Given the description of an element on the screen output the (x, y) to click on. 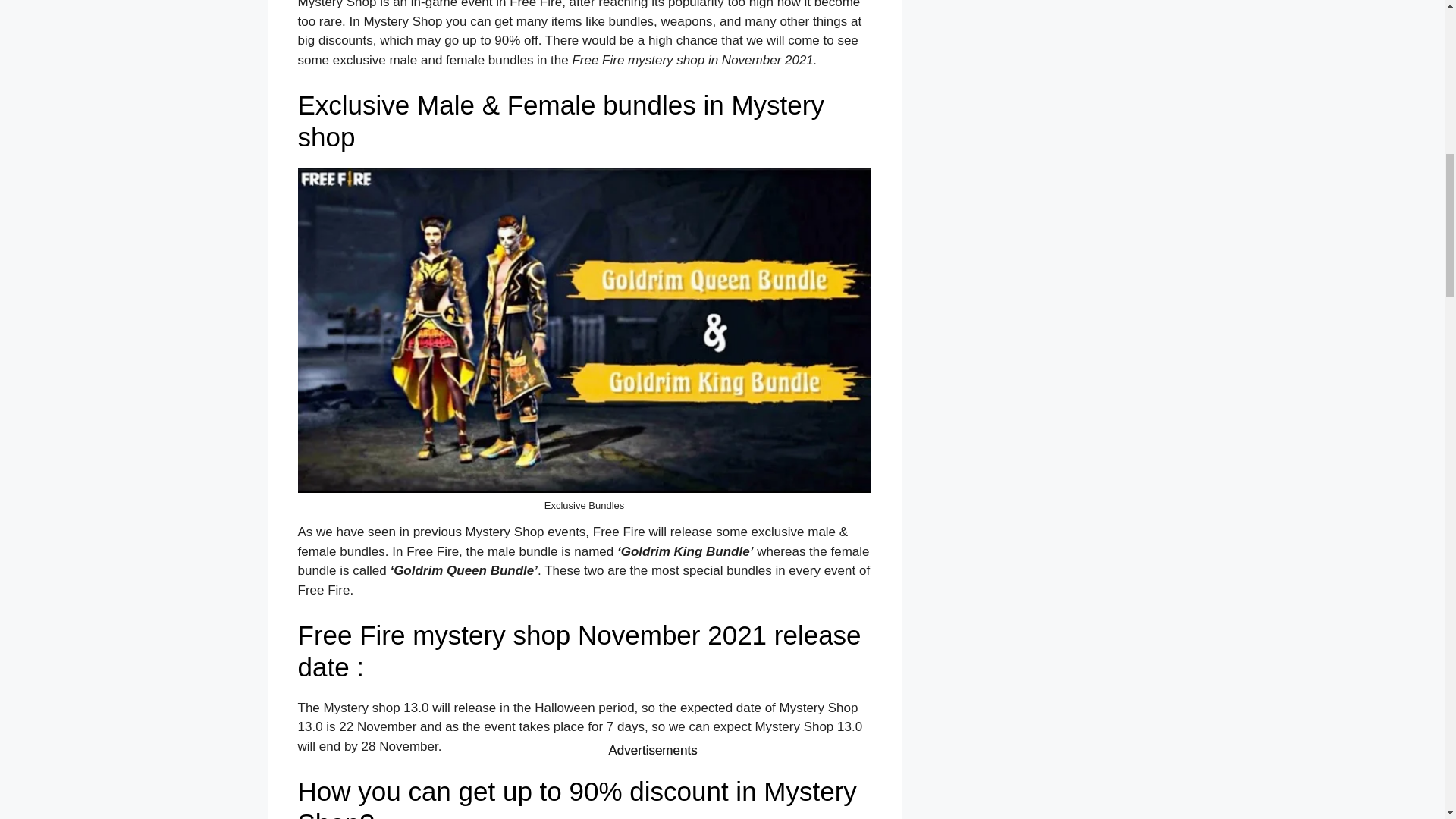
Scroll back to top (1406, 720)
